Given the description of an element on the screen output the (x, y) to click on. 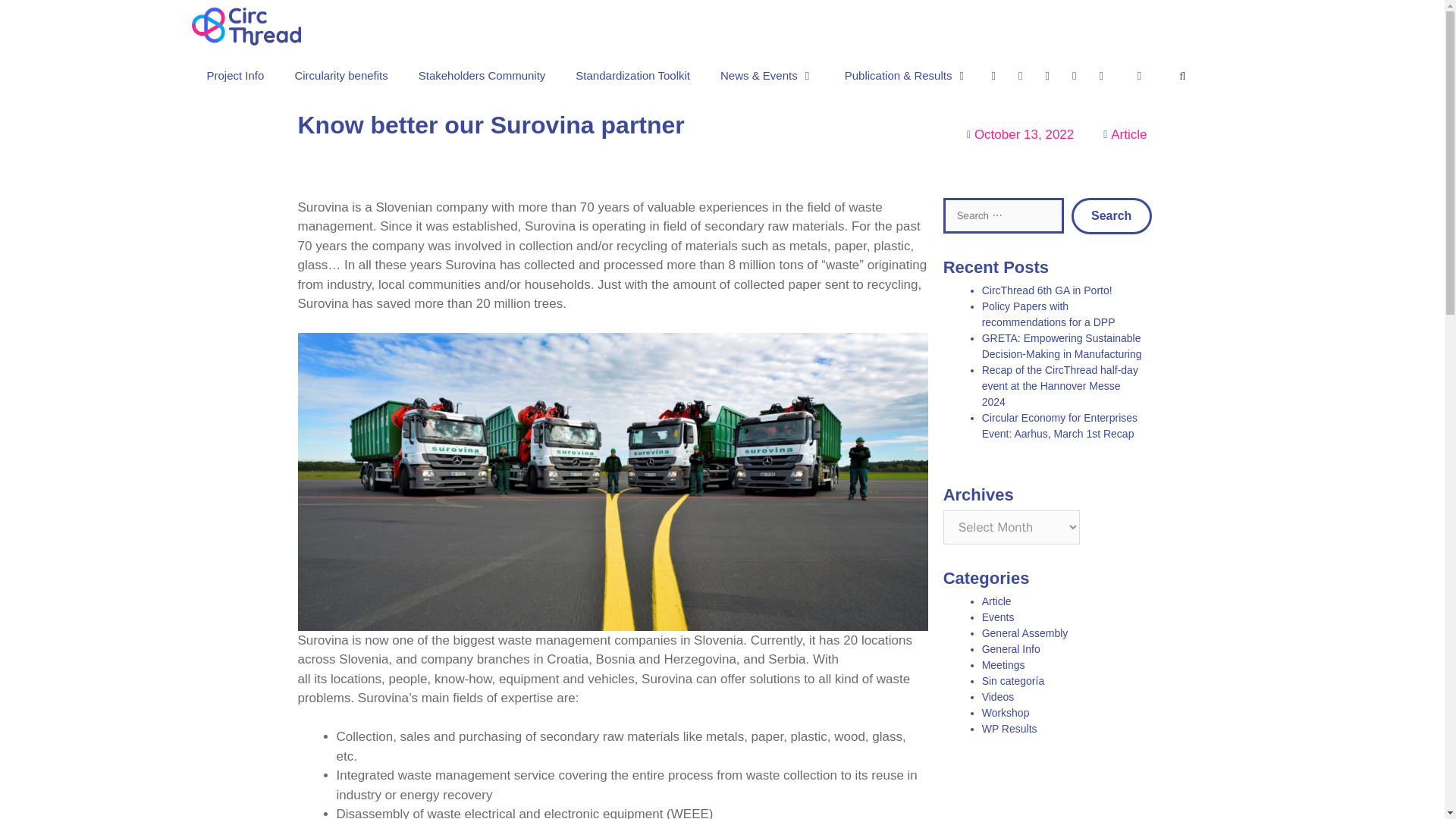
Standardization Toolkit (632, 75)
Search for: (1003, 214)
Project Info (234, 75)
Search (1111, 215)
Circthread (248, 26)
Circthread (244, 26)
Stakeholders Community (481, 75)
Circularity benefits (341, 75)
Search (1111, 215)
